Given the description of an element on the screen output the (x, y) to click on. 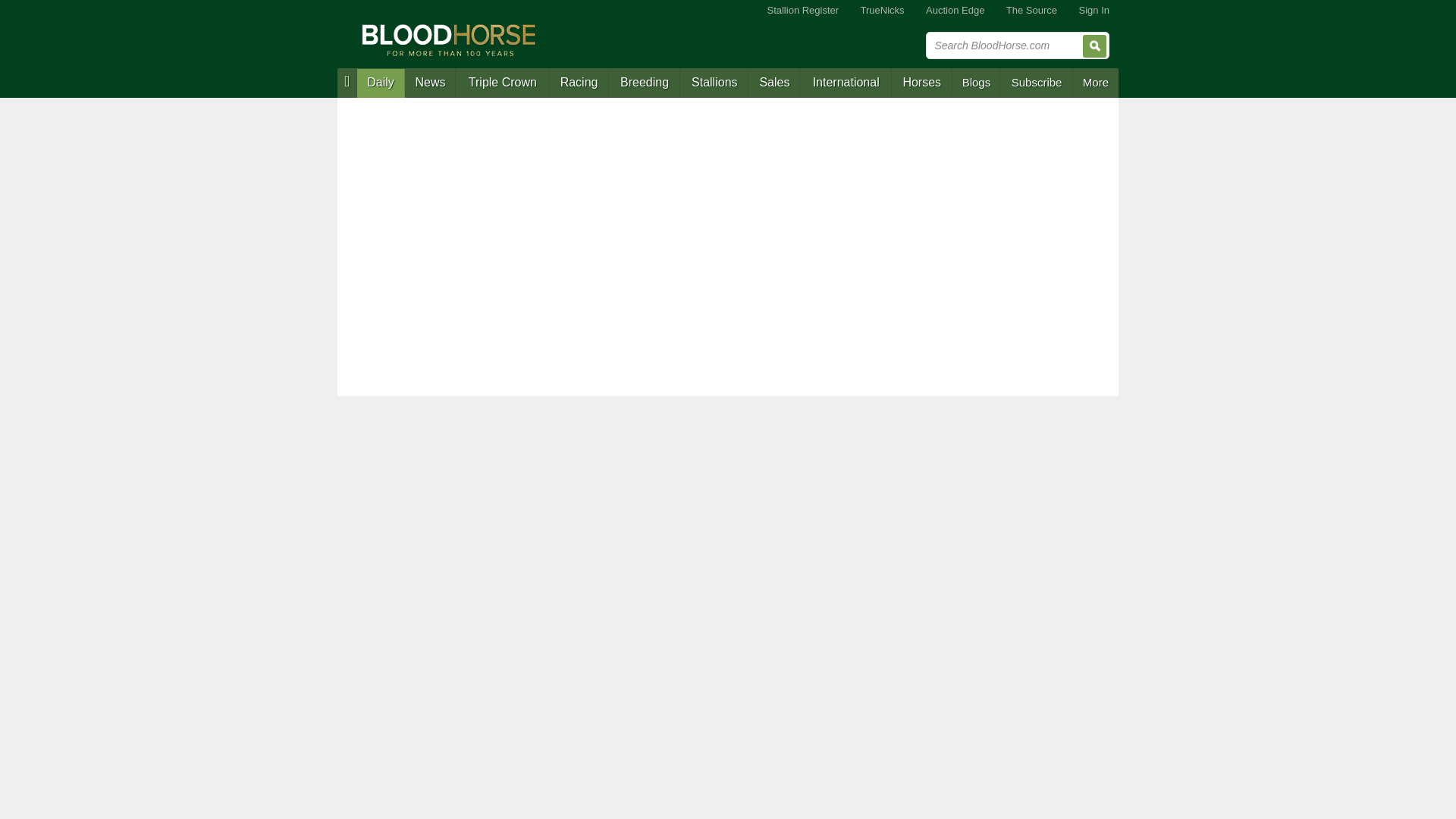
Thoroughbred Racing (578, 82)
Triple Crown (501, 82)
Search (1094, 46)
Breeding (643, 82)
Stallions (713, 82)
Auction Edge (954, 10)
TrueNicks (882, 10)
Sign In (1094, 10)
Thoroughbred News (430, 82)
Horses (921, 82)
Home (346, 81)
Daily (380, 82)
Blood-Horse: Thoroughbred Horse Racing News (449, 40)
News (430, 82)
International (845, 82)
